Given the description of an element on the screen output the (x, y) to click on. 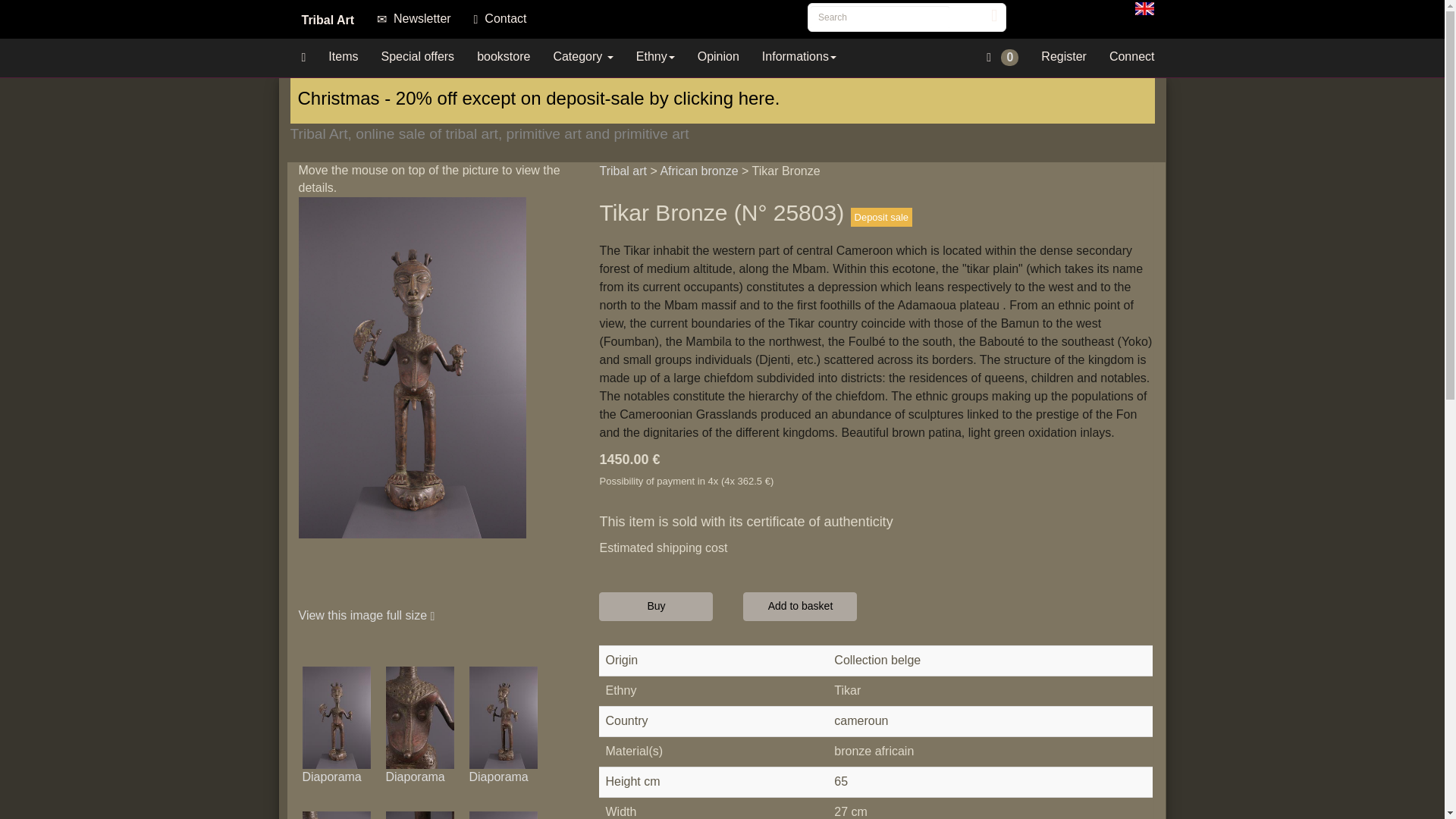
Connect (1131, 56)
Diaporama (414, 776)
Tribal Art (327, 18)
View this image full size (366, 615)
Diaporama (497, 776)
Ethny (654, 56)
  Newsletter (413, 18)
  Contact (500, 18)
Items (343, 56)
Informations (799, 56)
